Given the description of an element on the screen output the (x, y) to click on. 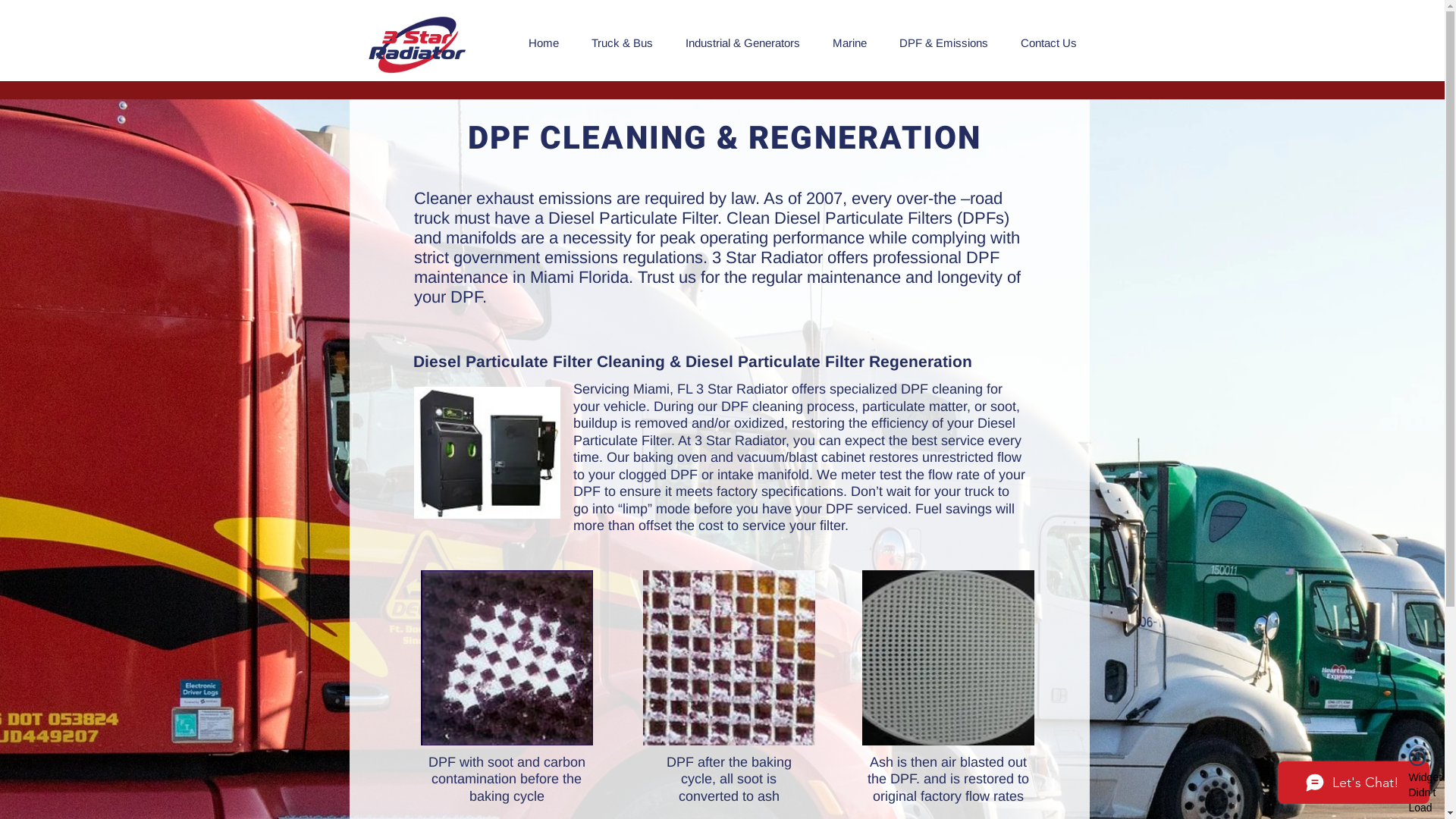
Marine Element type: text (848, 43)
Industrial & Generators Element type: text (741, 43)
DPF & Emissions Element type: text (943, 43)
Truck & Bus Element type: text (621, 43)
Contact Us Element type: text (1048, 43)
Home Element type: text (543, 43)
